Given the description of an element on the screen output the (x, y) to click on. 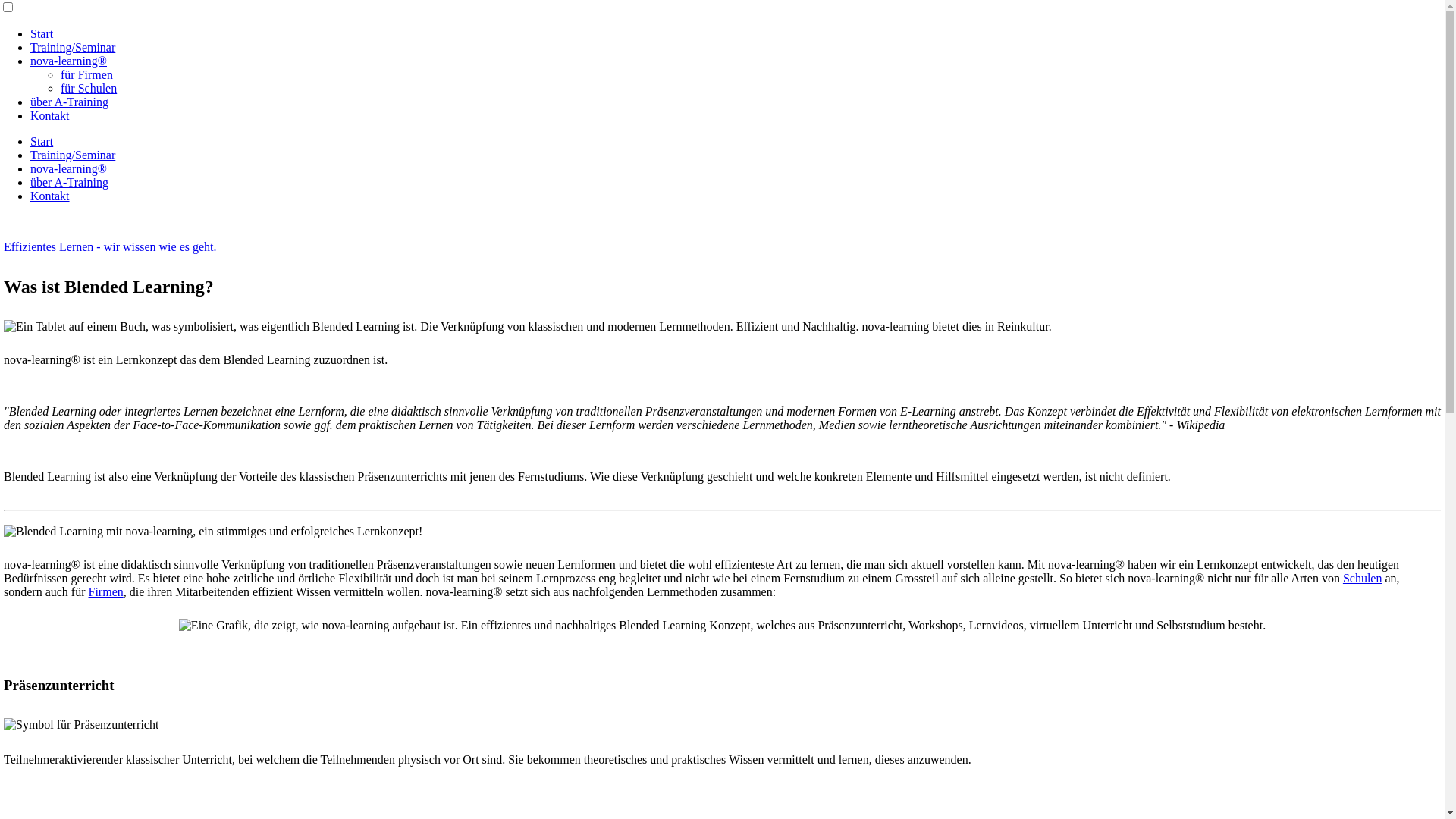
Firmen Element type: text (105, 591)
Effizientes Lernen - wir wissen wie es geht. Element type: text (721, 247)
Start Element type: text (41, 140)
Training/Seminar Element type: text (72, 46)
Start Element type: text (41, 33)
Training/Seminar Element type: text (72, 154)
Schulen Element type: text (1362, 577)
Kontakt Element type: text (49, 115)
Kontakt Element type: text (49, 195)
